Given the description of an element on the screen output the (x, y) to click on. 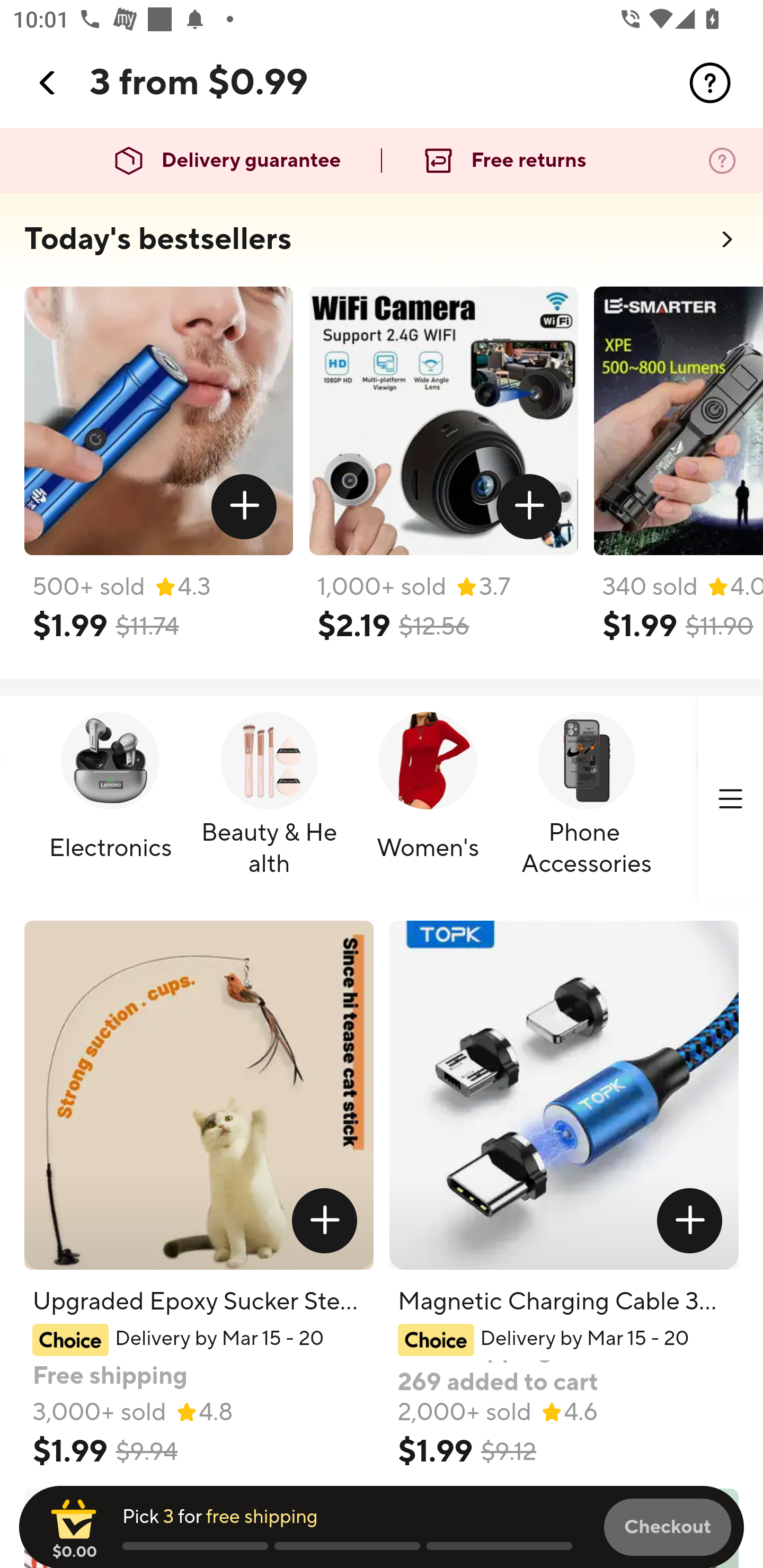
 (710, 82)
 (48, 82)
Today's bestsellers  Today's bestsellers  (381, 244)
Today's bestsellers (157, 239)
 (244, 506)
 (529, 506)
 (730, 799)
300x300.png_ Electronics (110, 800)
300x300.png_ Beauty & Health (268, 800)
200x200.png_ Women's (427, 800)
300x300.png_ Phone Accessories (586, 800)
 (323, 1220)
 (689, 1220)
